Given the description of an element on the screen output the (x, y) to click on. 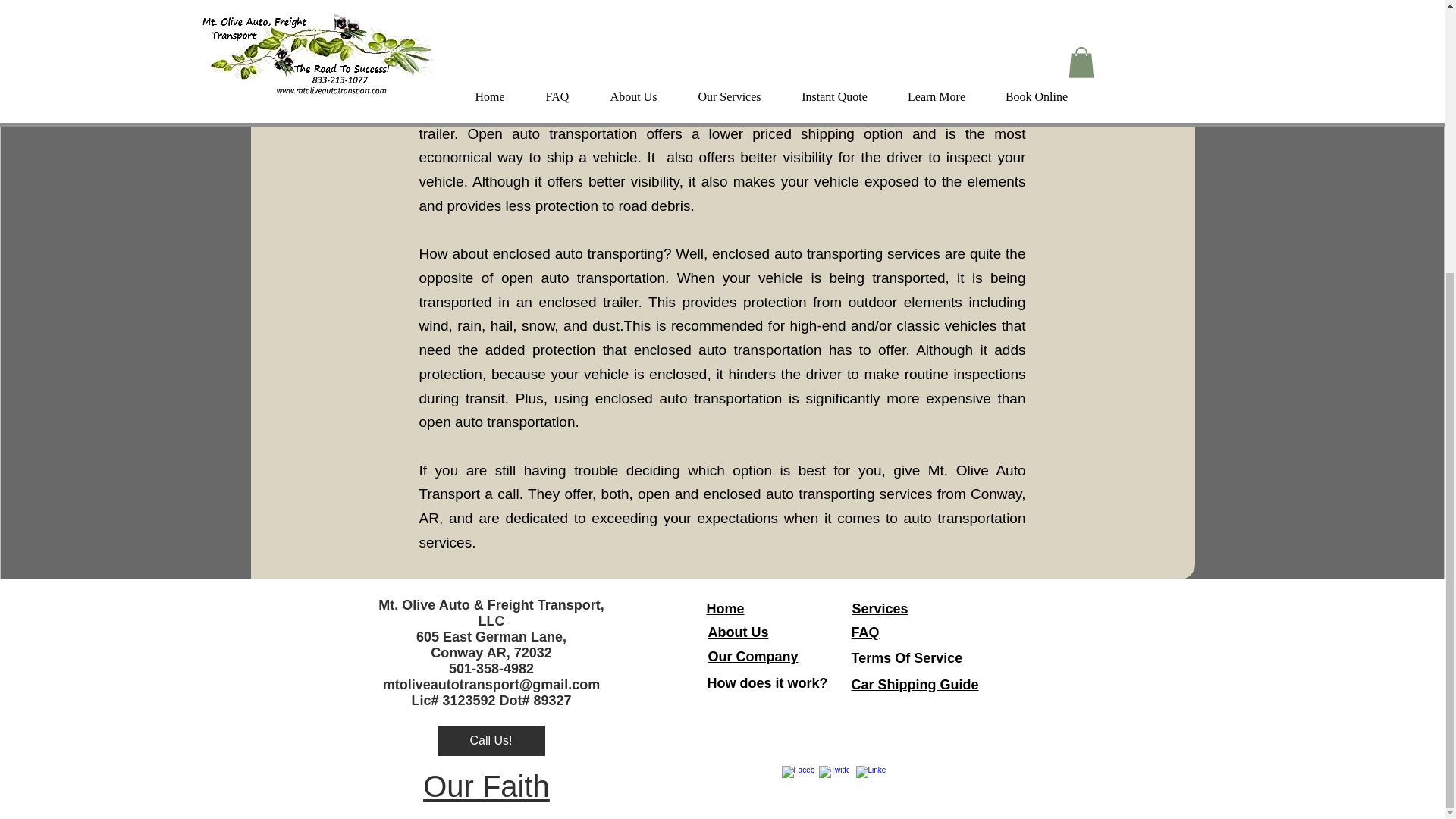
Car Shipping Guide (914, 684)
About Us (737, 631)
Our Faith (486, 786)
Terms Of Service (906, 657)
Our Company (752, 656)
FAQ (864, 631)
Call Us! (490, 740)
Services (879, 608)
Home (725, 608)
How does it work? (766, 683)
